Given the description of an element on the screen output the (x, y) to click on. 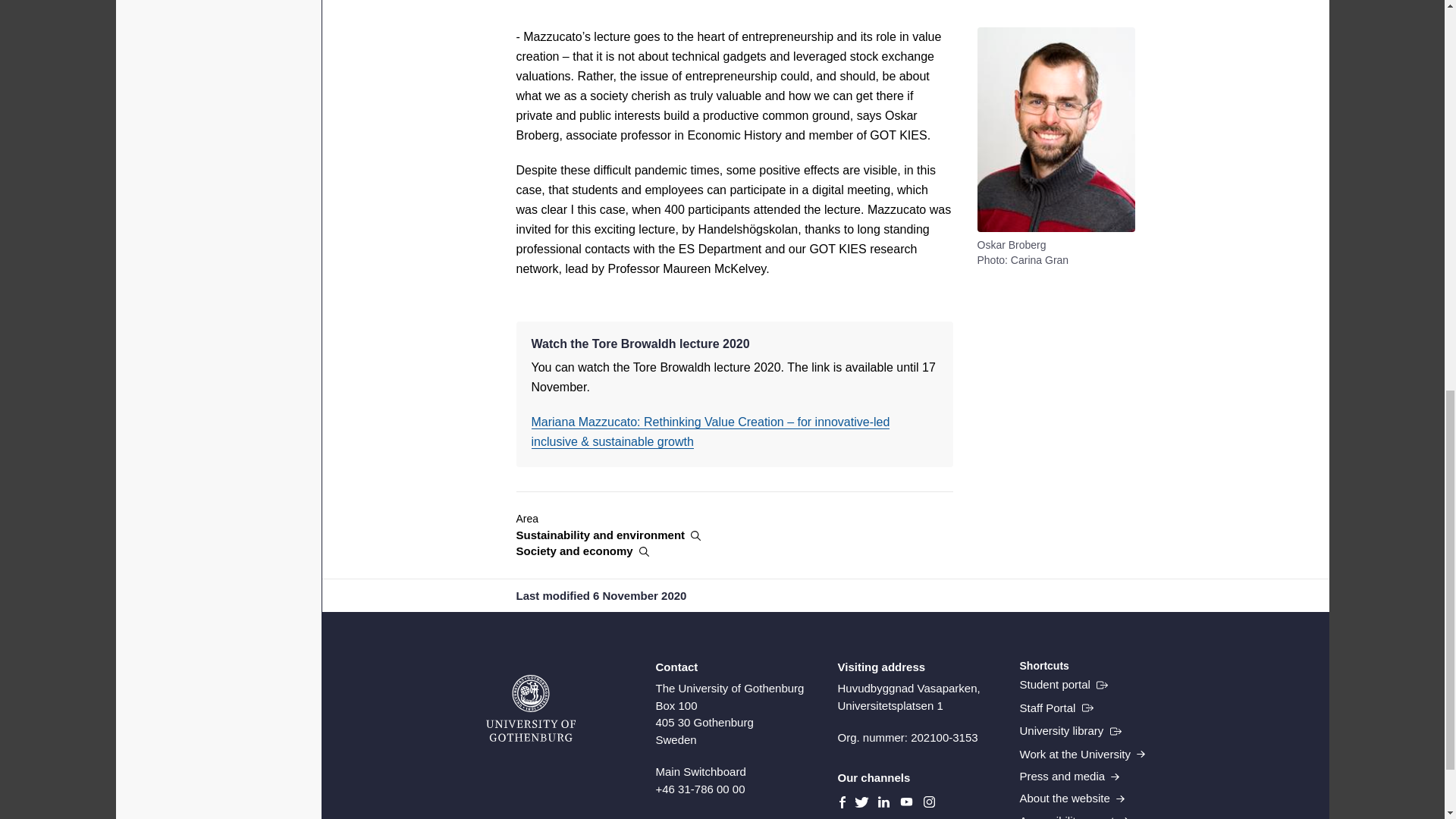
External link (1063, 684)
External link (1070, 731)
External link (1056, 708)
